Given the description of an element on the screen output the (x, y) to click on. 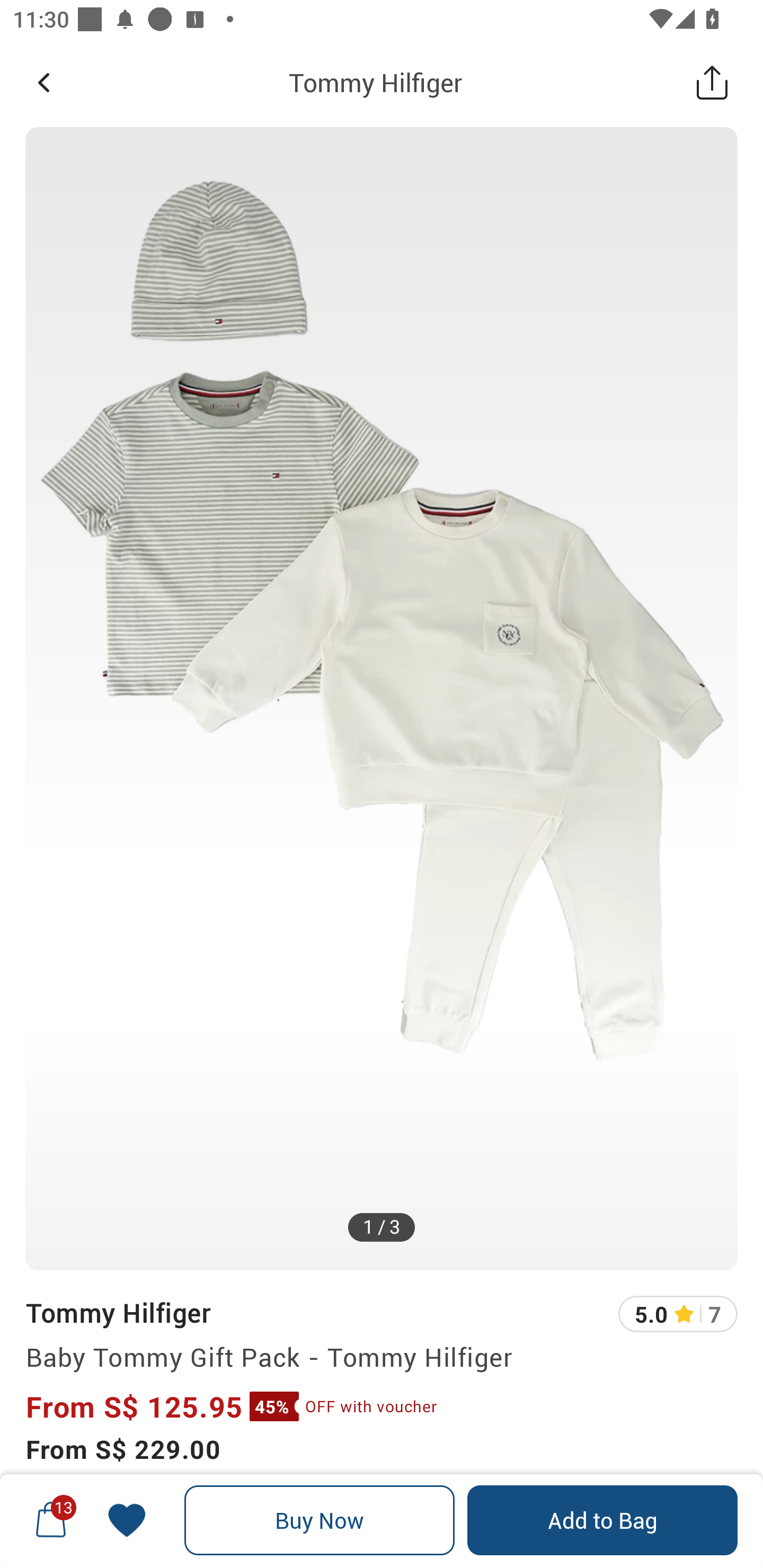
Tommy Hilfiger (375, 82)
Share this Product (711, 82)
Tommy Hilfiger (117, 1312)
5.0 7 (677, 1313)
Buy Now (319, 1519)
Add to Bag (601, 1519)
13 (50, 1520)
